Given the description of an element on the screen output the (x, y) to click on. 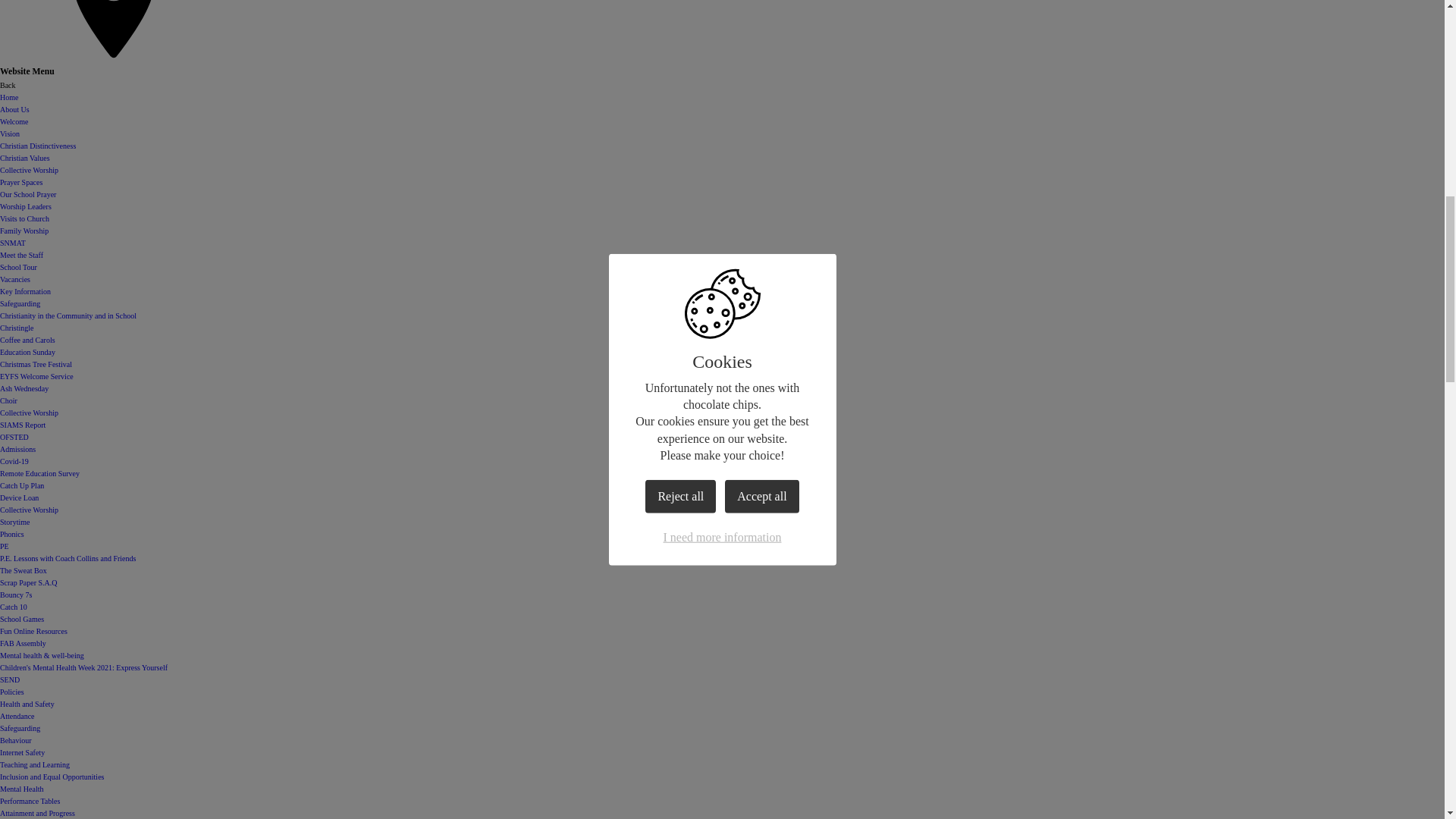
Christmas Tree Festival (35, 364)
Home (8, 97)
Admissions (17, 449)
Collective Worship (29, 170)
Welcome (14, 121)
Remote Education Survey (40, 473)
Ash Wednesday (24, 388)
EYFS Welcome Service (37, 376)
About Us (14, 109)
OFSTED (14, 437)
Family Worship (24, 230)
Vision (10, 133)
Safeguarding (20, 303)
Prayer Spaces (21, 182)
Vacancies (15, 279)
